Given the description of an element on the screen output the (x, y) to click on. 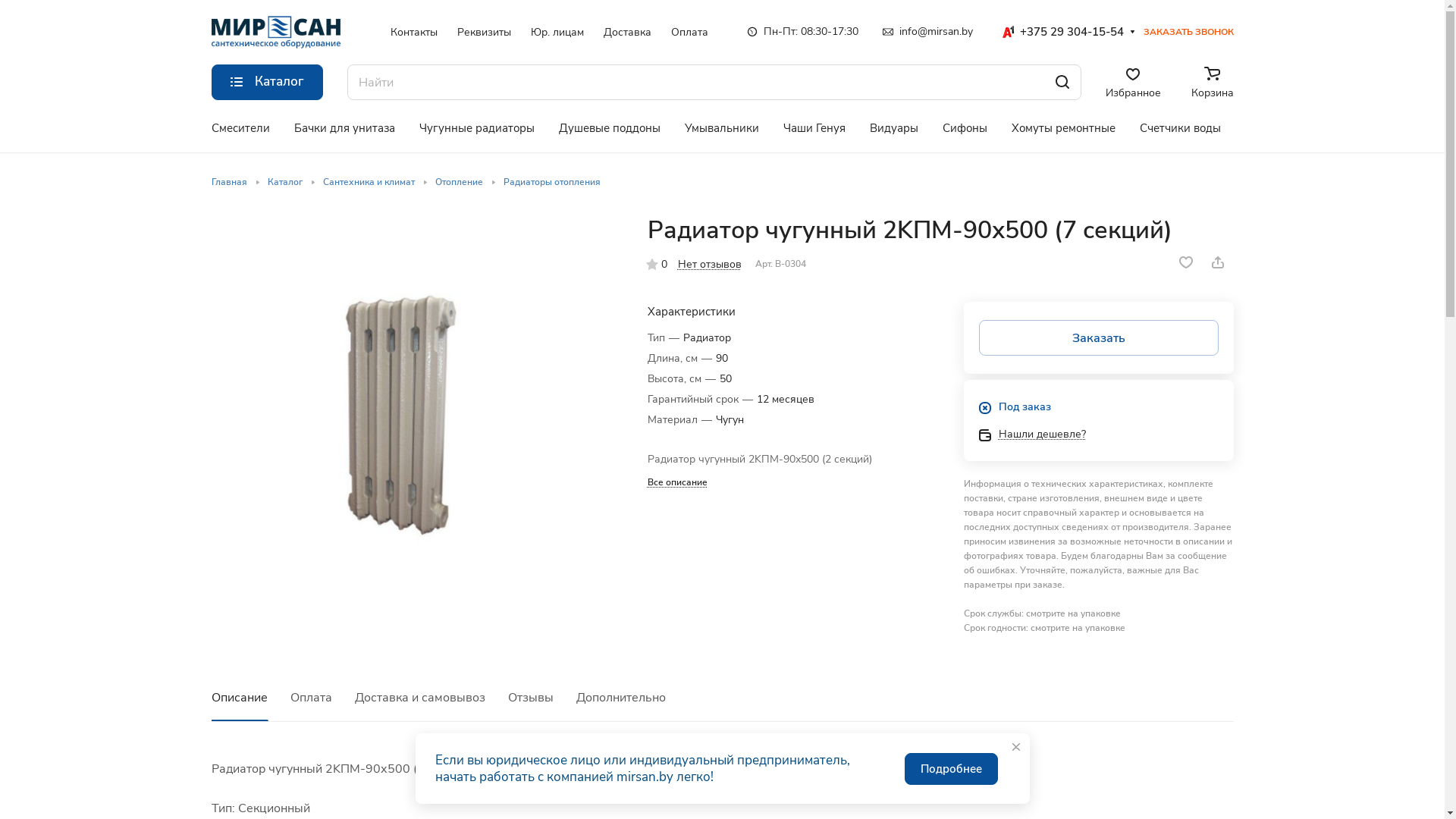
MIRSAN.BY Element type: hover (274, 31)
info@mirsan.by Element type: text (927, 31)
+375 29 304-15-54 Element type: text (1062, 31)
